Given the description of an element on the screen output the (x, y) to click on. 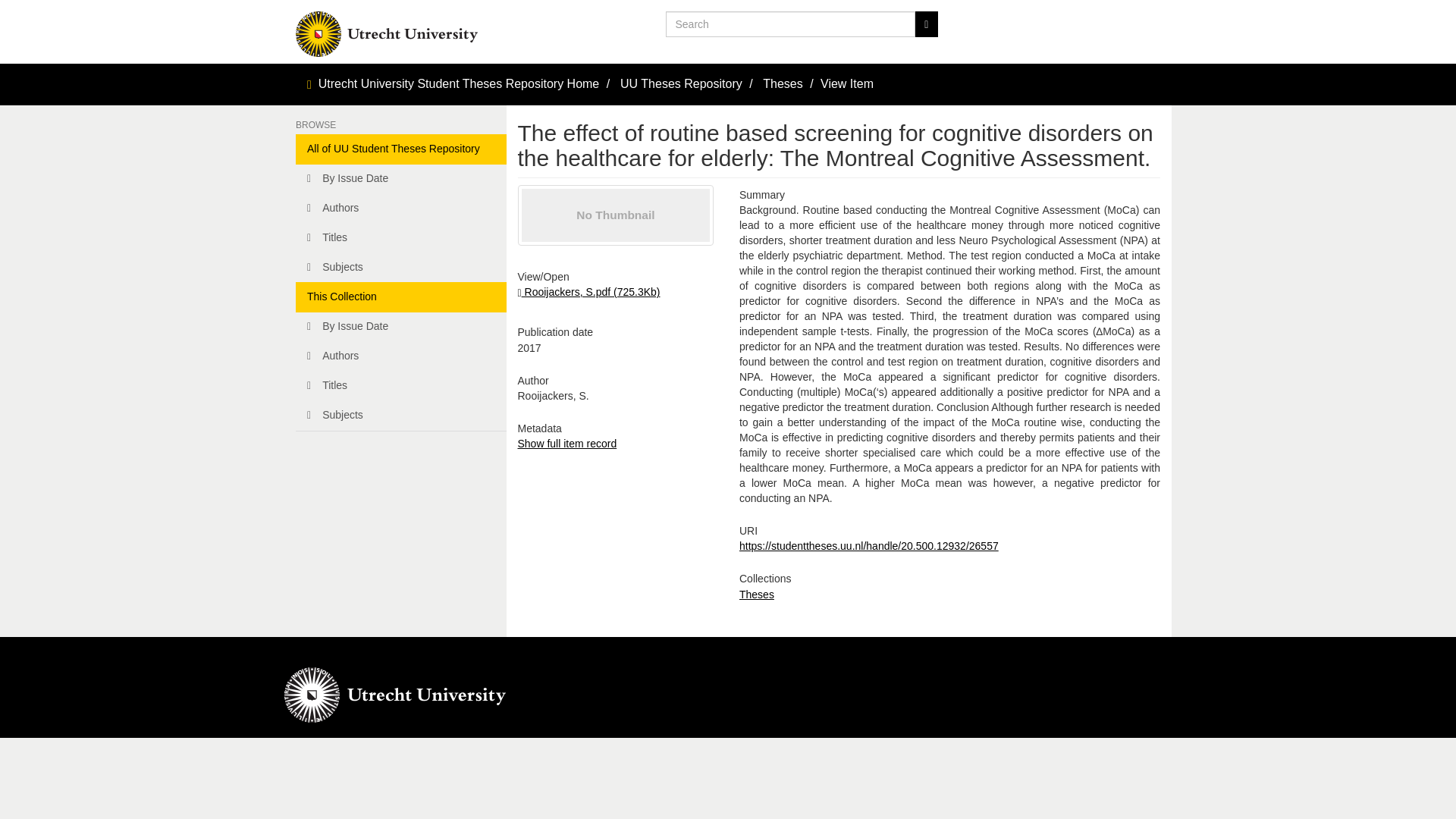
By Issue Date (400, 327)
This Collection (400, 296)
Show full item record (565, 443)
Titles (400, 237)
Titles (400, 386)
By Issue Date (400, 178)
UU Theses Repository (681, 83)
Utrecht University Student Theses Repository Home (458, 83)
Authors (400, 208)
Theses (782, 83)
